Given the description of an element on the screen output the (x, y) to click on. 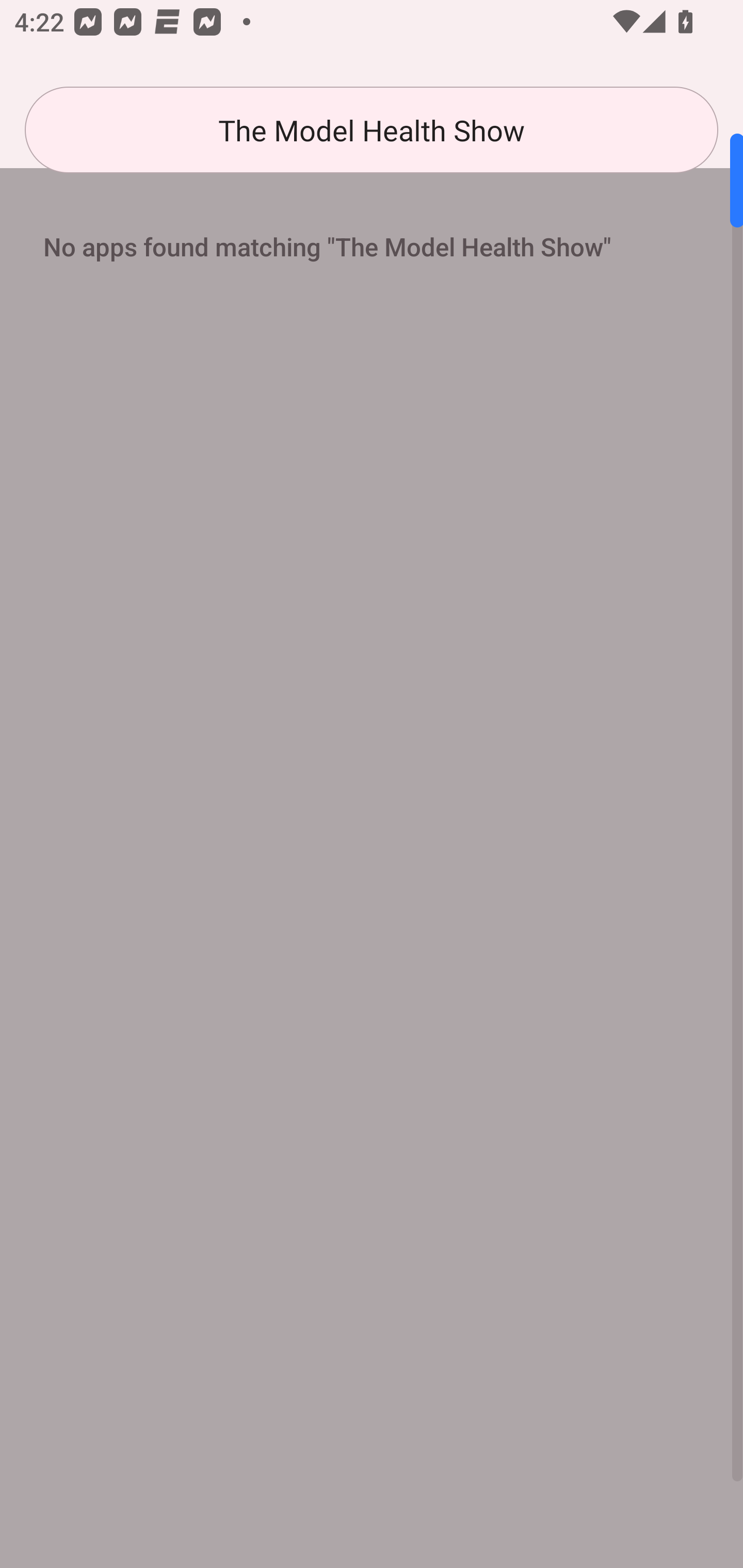
The Model Health Show (371, 130)
